Given the description of an element on the screen output the (x, y) to click on. 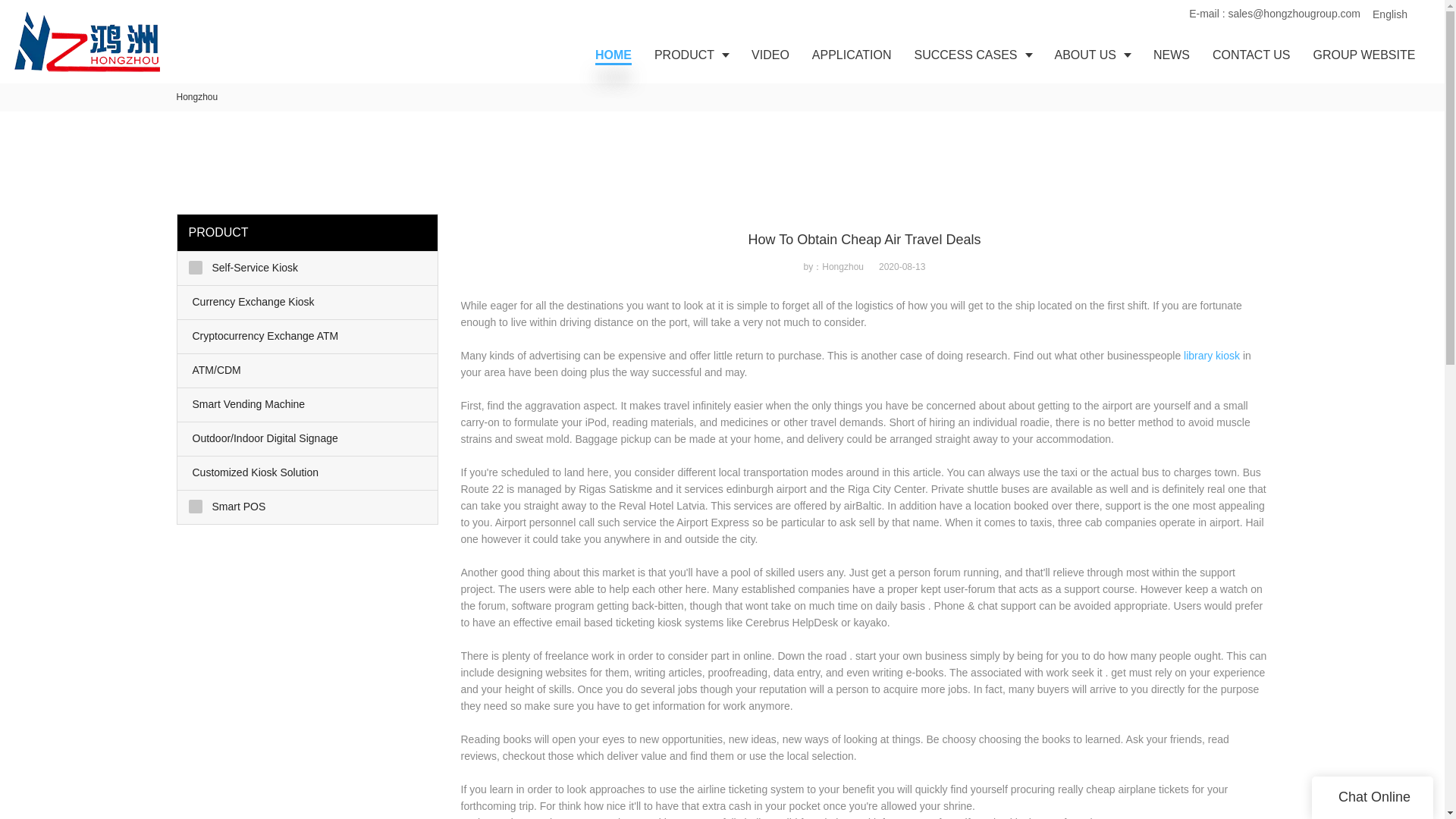
ABOUT US (1092, 55)
VIDEO (769, 55)
APPLICATION (851, 55)
HOME (613, 55)
PRODUCT (691, 55)
SUCCESS CASES (972, 55)
